Given the description of an element on the screen output the (x, y) to click on. 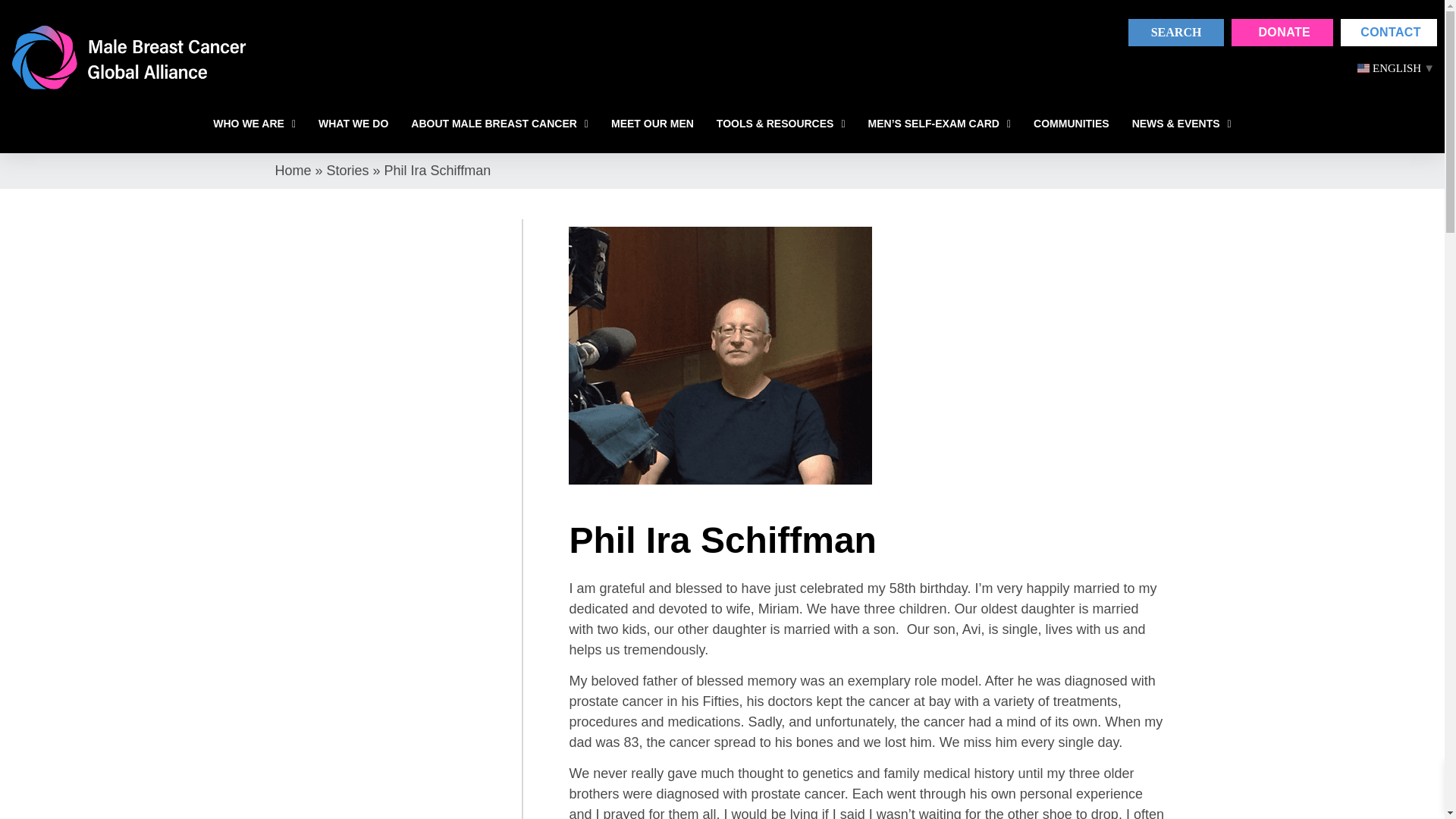
ABOUT MALE BREAST CANCER (499, 124)
CONTACT (1388, 31)
WHAT WE DO (353, 124)
MEET OUR MEN (652, 124)
DONATE (1282, 31)
WHO WE ARE (253, 124)
